Given the description of an element on the screen output the (x, y) to click on. 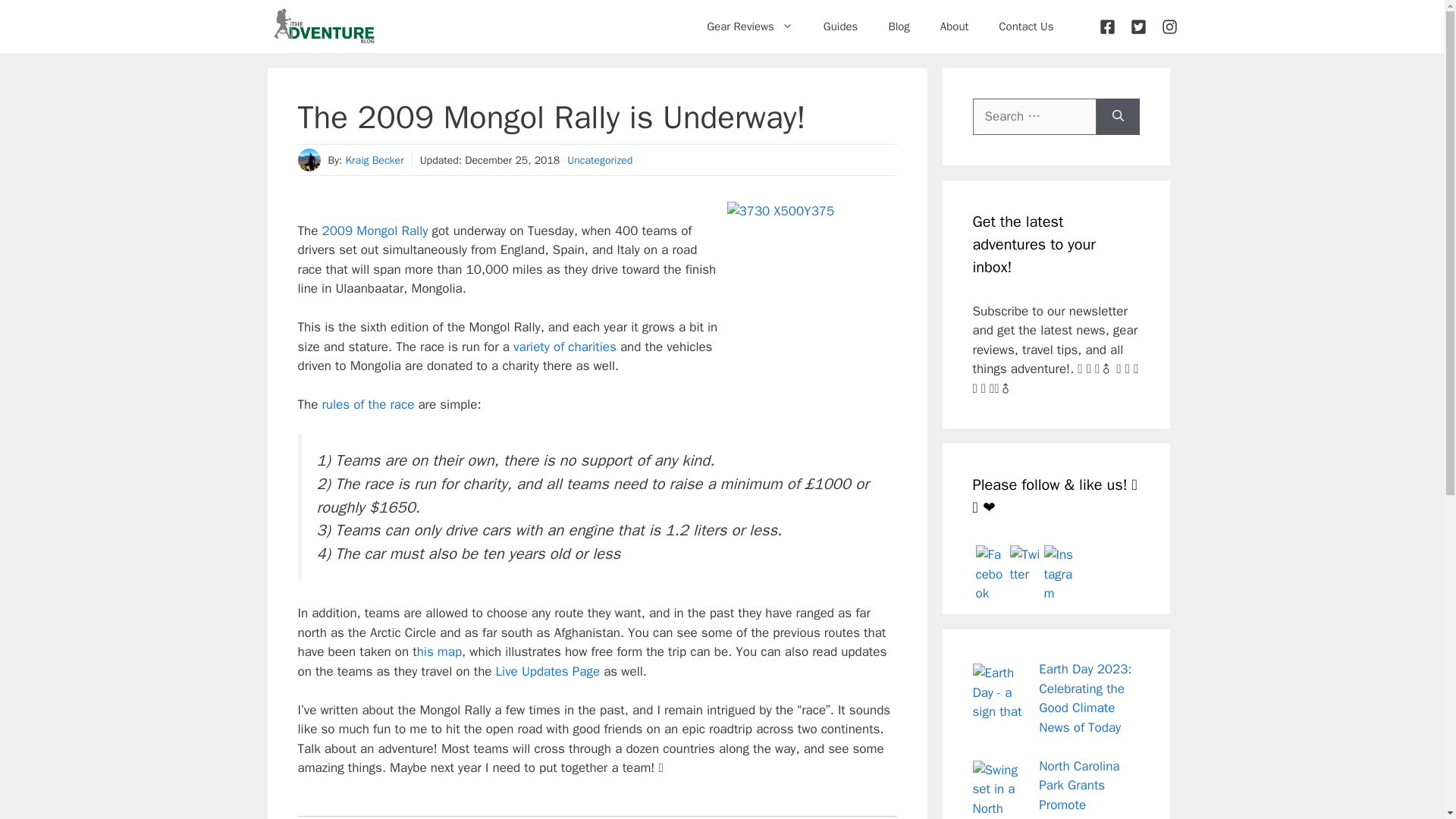
rules of the race (367, 404)
About (954, 26)
Guides (840, 26)
Kraig Becker (374, 160)
Live Updates Page (547, 671)
Uncategorized (599, 160)
Blog (898, 26)
his map (438, 651)
Contact Us (1026, 26)
2009 Mongol Rally (374, 230)
